Given the description of an element on the screen output the (x, y) to click on. 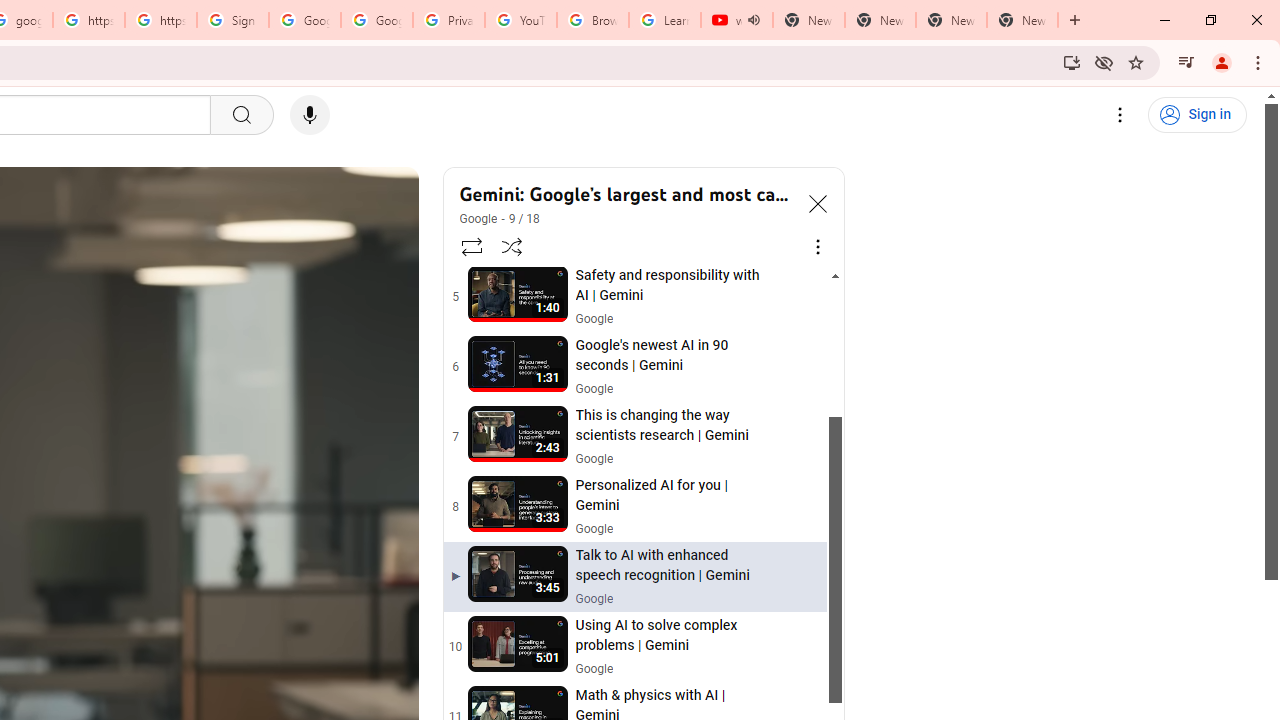
Google (479, 218)
Install YouTube (1071, 62)
Search with your voice (309, 115)
